Given the description of an element on the screen output the (x, y) to click on. 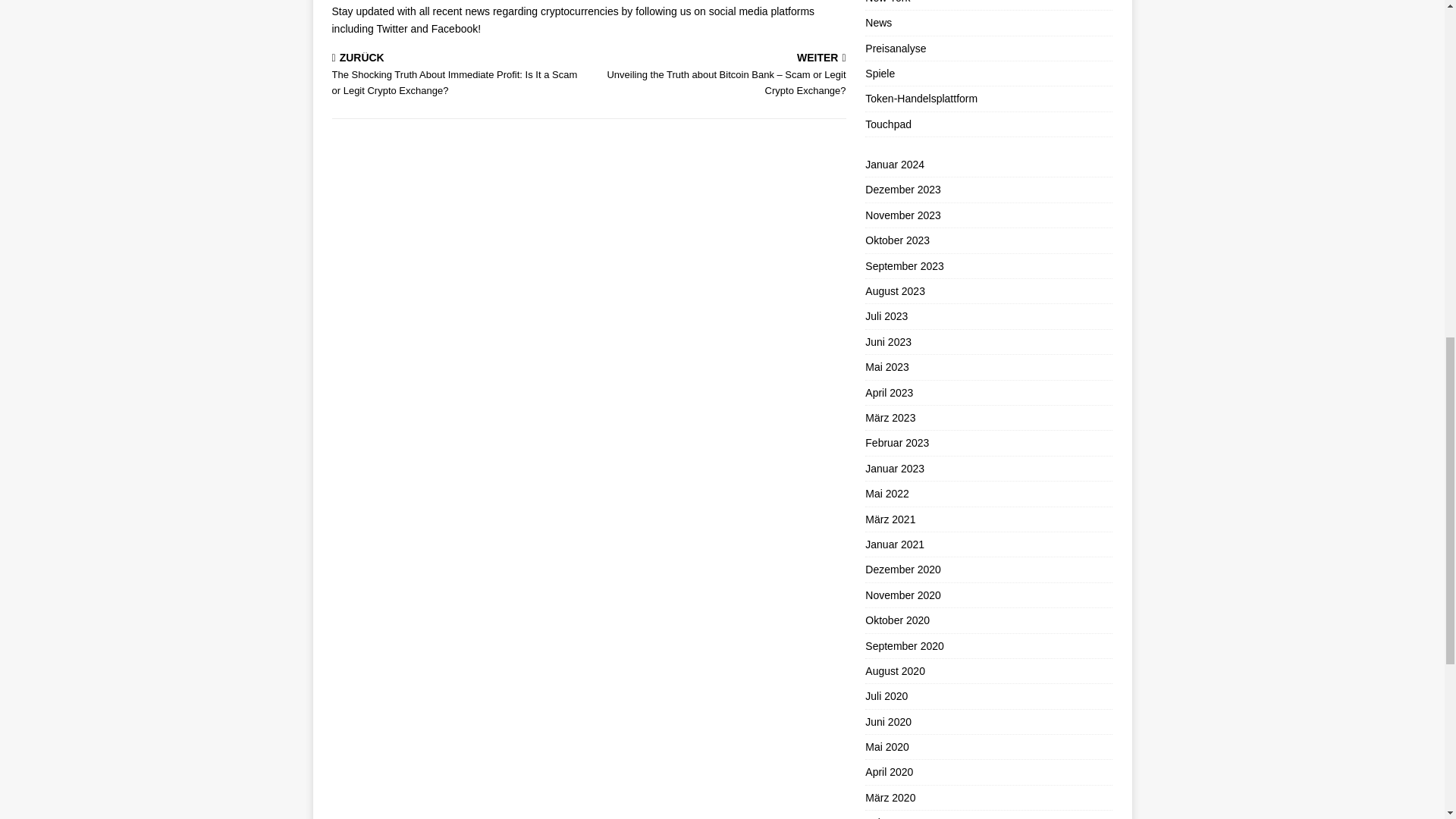
News (988, 22)
Touchpad (988, 124)
Spiele (988, 73)
Preisanalyse (988, 48)
Token-Handelsplattform (988, 98)
Januar 2024 (988, 166)
Oktober 2023 (988, 240)
Dezember 2023 (988, 189)
November 2023 (988, 215)
September 2023 (988, 265)
New York (988, 4)
